Given the description of an element on the screen output the (x, y) to click on. 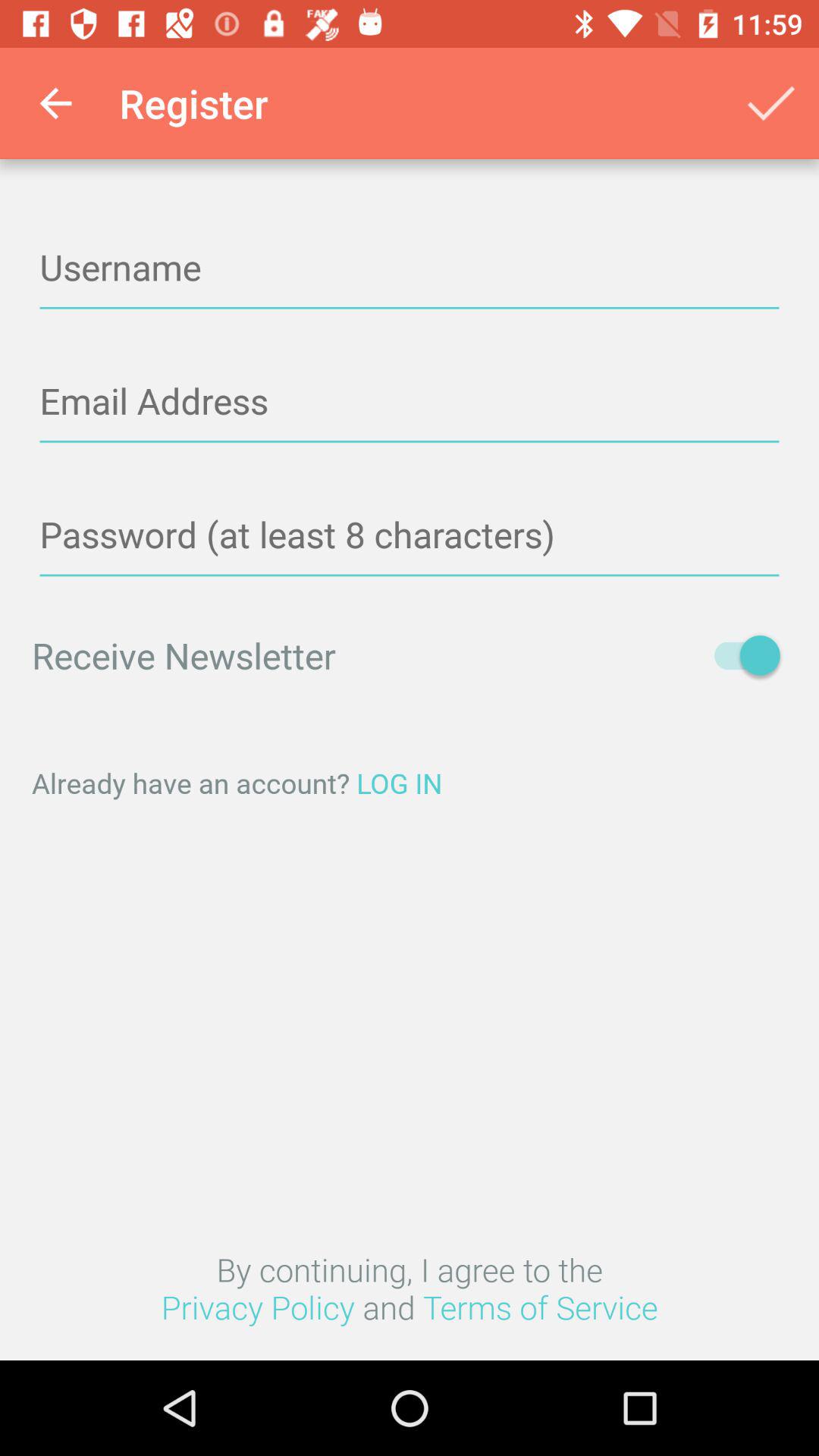
launch icon to the left of register item (55, 103)
